Given the description of an element on the screen output the (x, y) to click on. 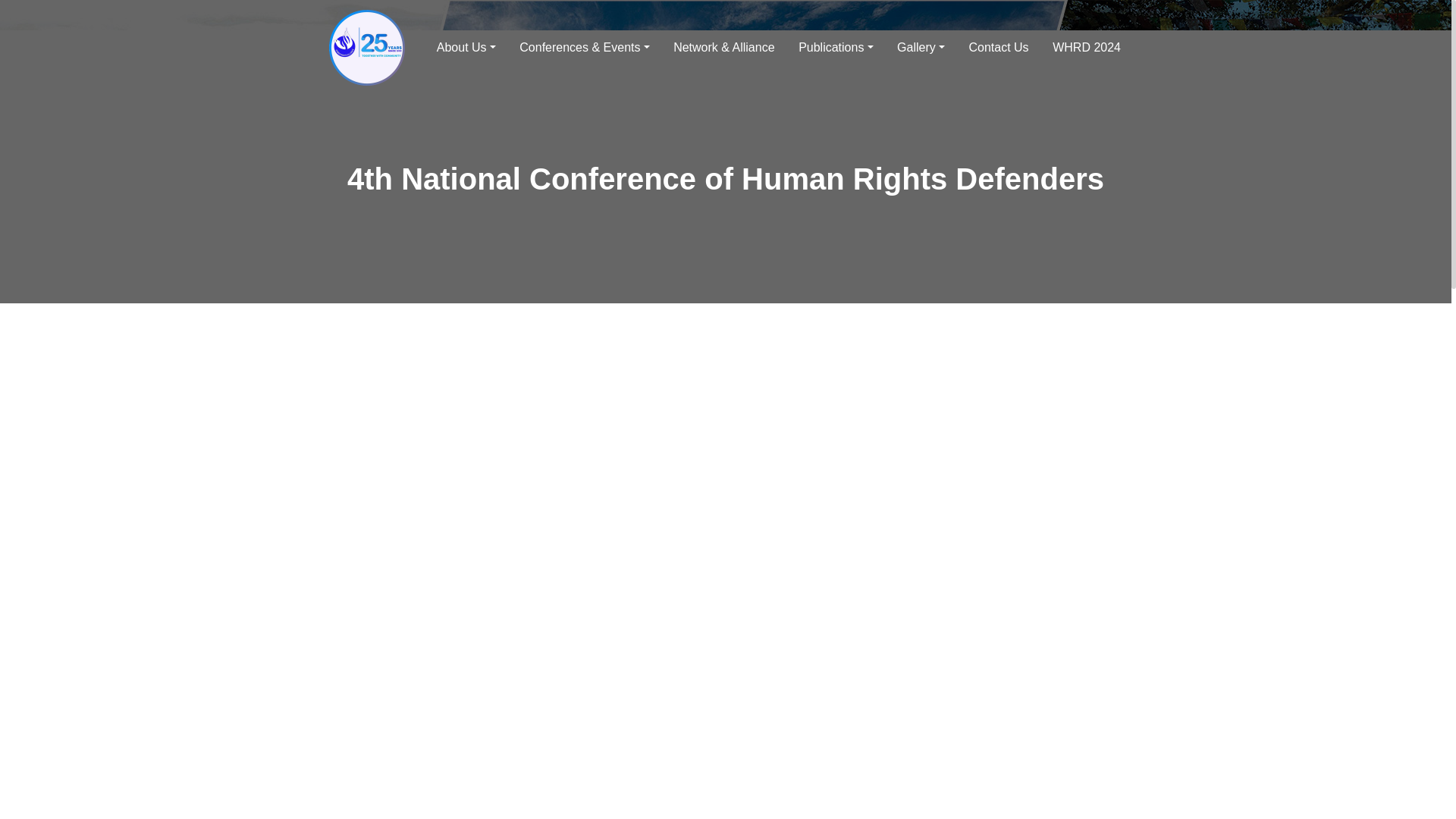
Publications (835, 47)
WHRD 2024 (1085, 47)
About Us (465, 47)
Gallery (920, 47)
Contact Us (998, 47)
